Given the description of an element on the screen output the (x, y) to click on. 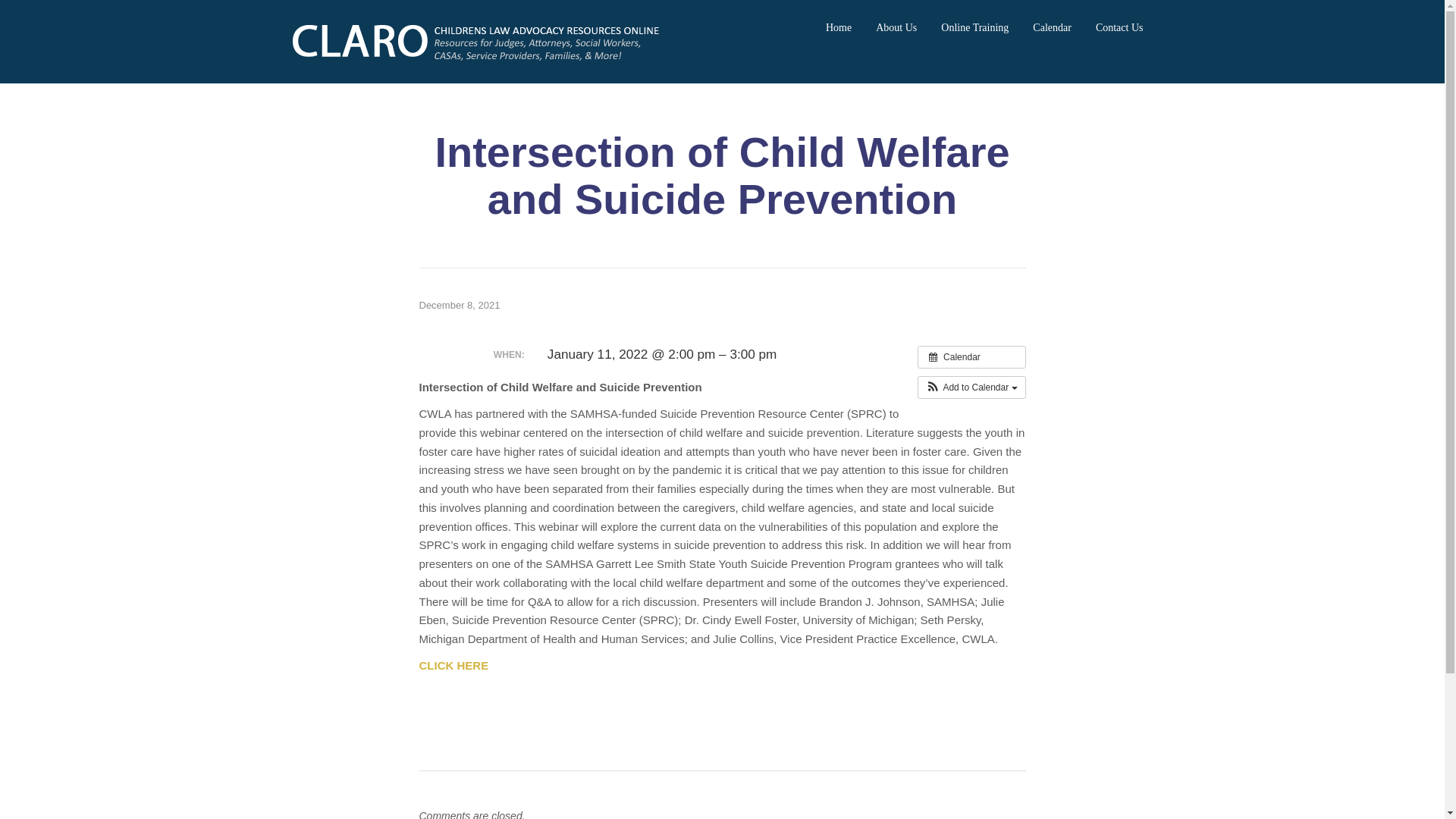
CLICK HERE (453, 665)
Calendar (971, 356)
Contact Us (1119, 27)
View all events (971, 356)
About Us (896, 27)
Online Training (974, 27)
Calendar (1051, 27)
